Given the description of an element on the screen output the (x, y) to click on. 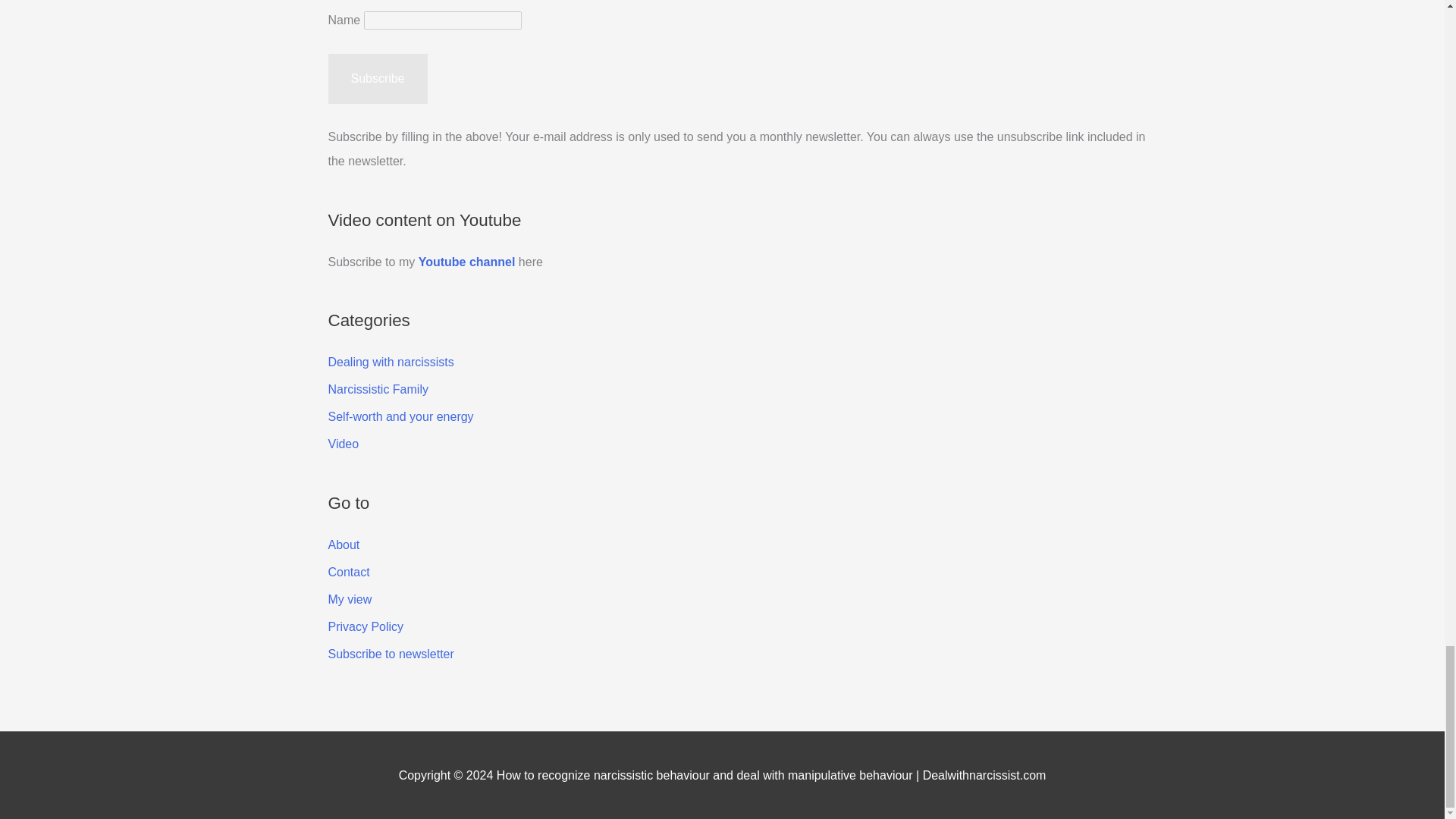
Privacy Policy (365, 626)
Dealing with narcissists (389, 361)
My view (349, 599)
Contact (348, 571)
Subscribe to newsletter (389, 653)
About (343, 544)
Video (342, 443)
Subscribe (376, 79)
Narcissistic Family (377, 389)
Subscribe (376, 79)
